Given the description of an element on the screen output the (x, y) to click on. 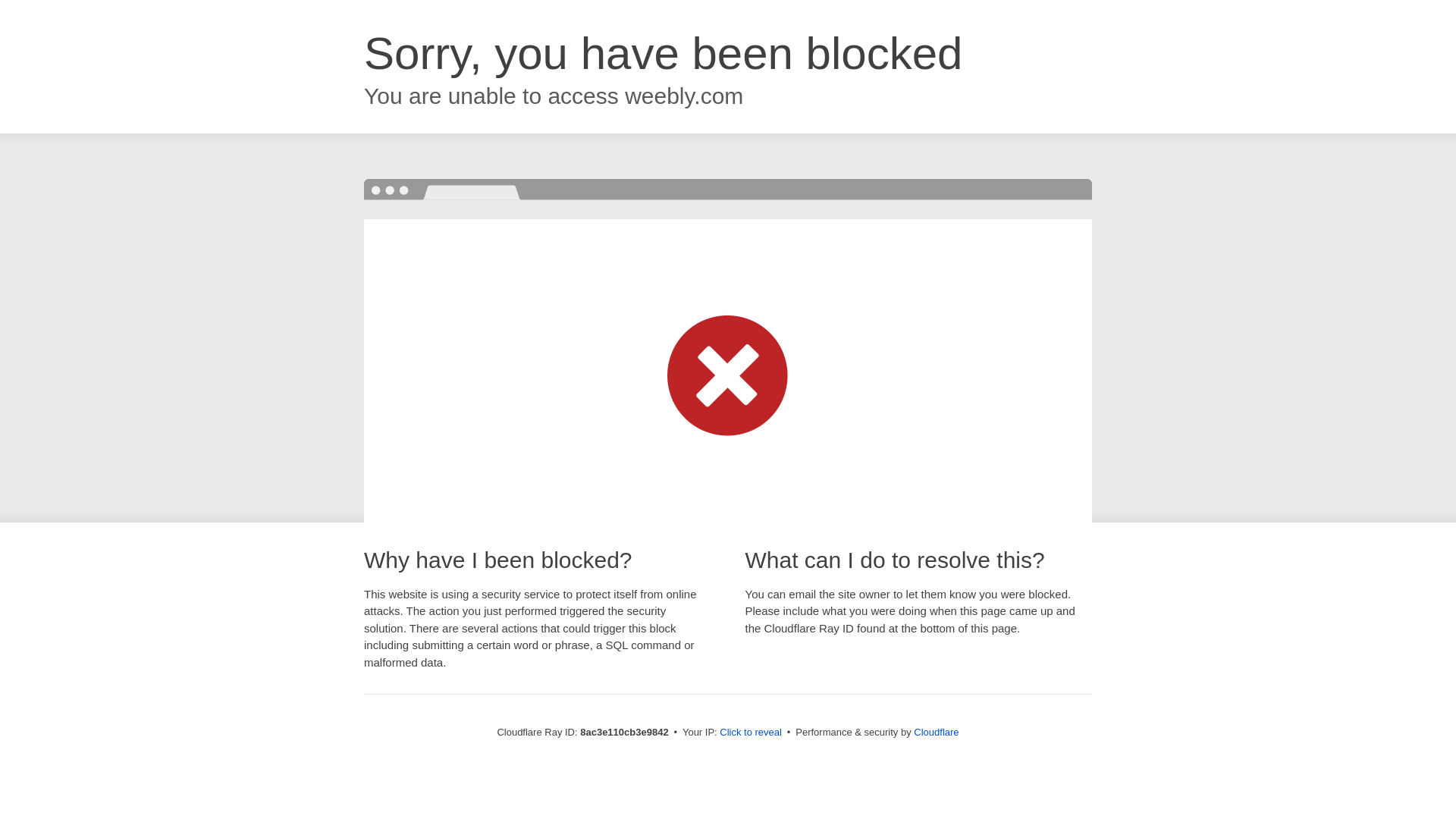
Cloudflare (936, 731)
Click to reveal (750, 732)
